Given the description of an element on the screen output the (x, y) to click on. 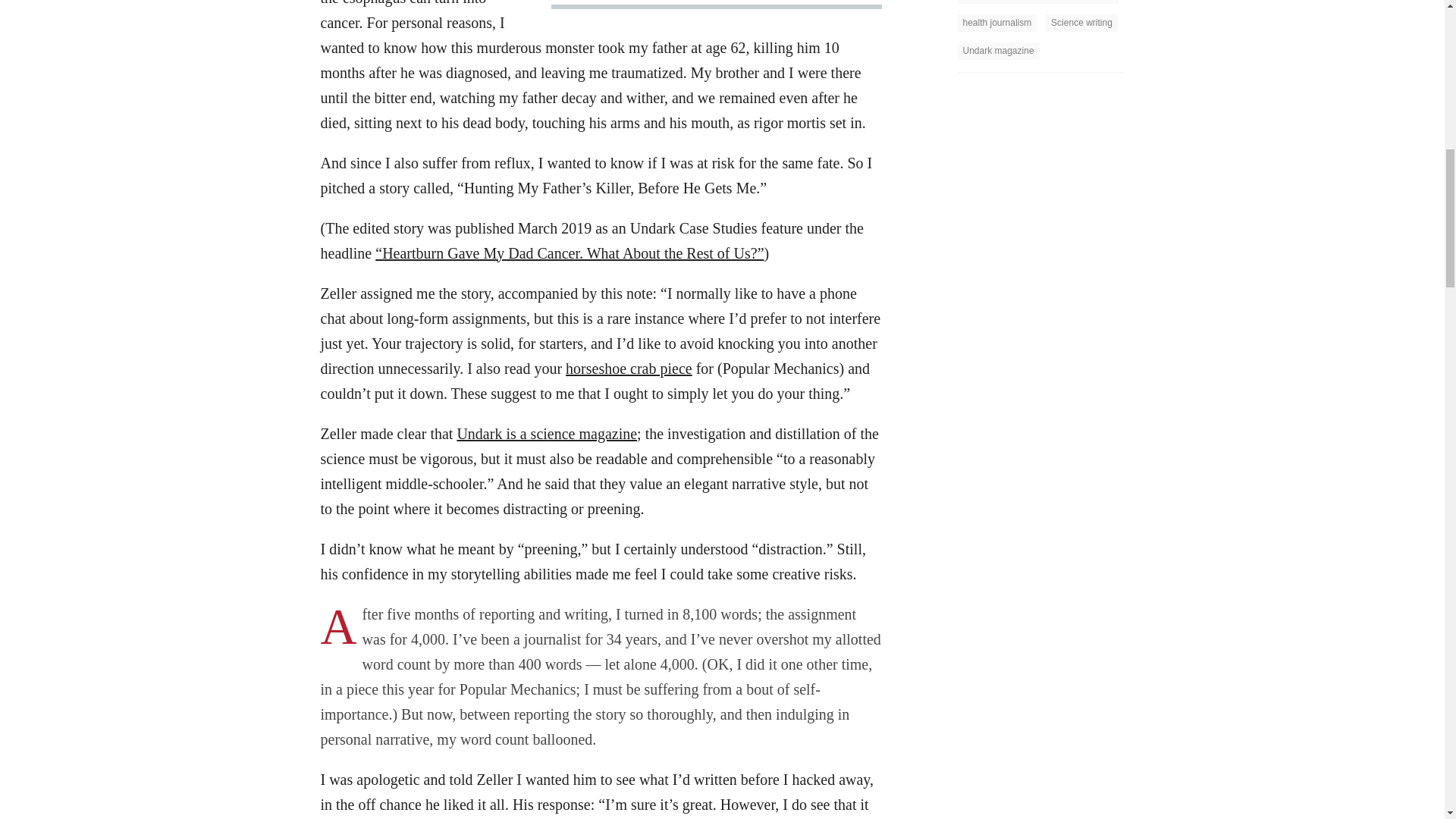
Science writing (1081, 22)
Undark magazine (997, 50)
health journalism (996, 22)
Association of Health Care Journalists (1037, 2)
